Given the description of an element on the screen output the (x, y) to click on. 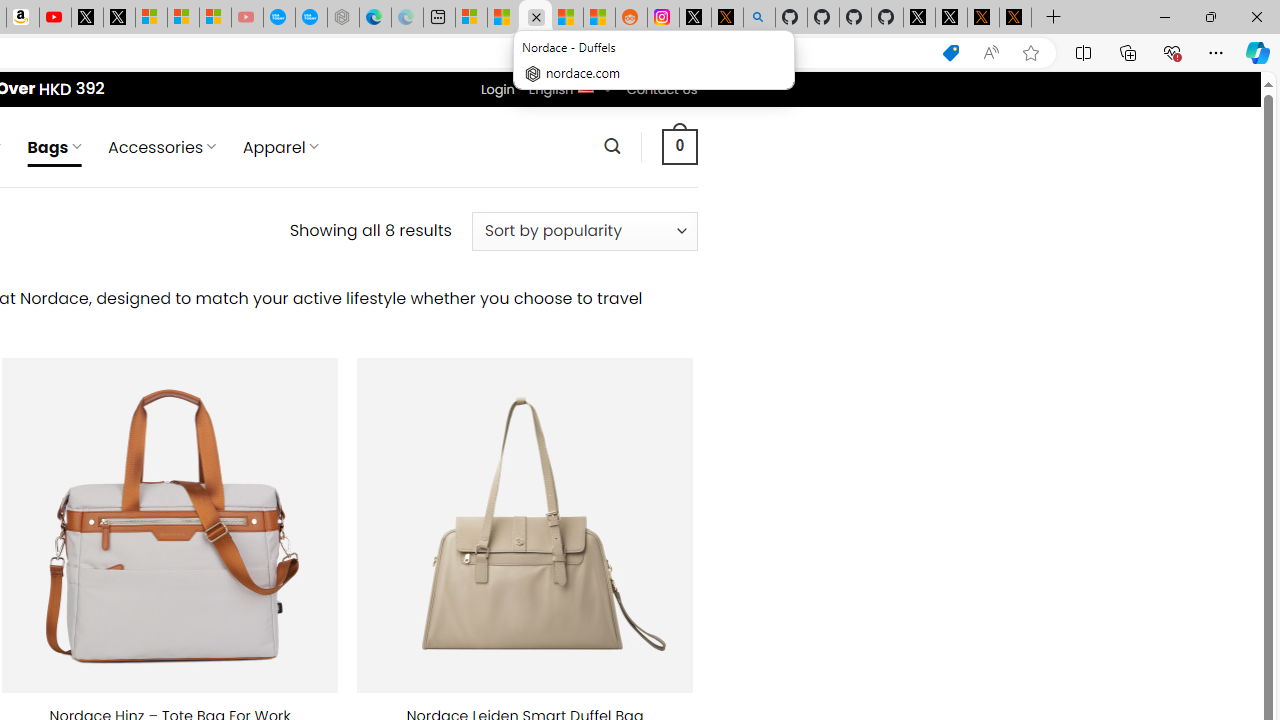
Nordace - Nordace has arrived Hong Kong - Sleeping (343, 17)
Profile / X (919, 17)
Gloom - YouTube - Sleeping (246, 17)
